Given the description of an element on the screen output the (x, y) to click on. 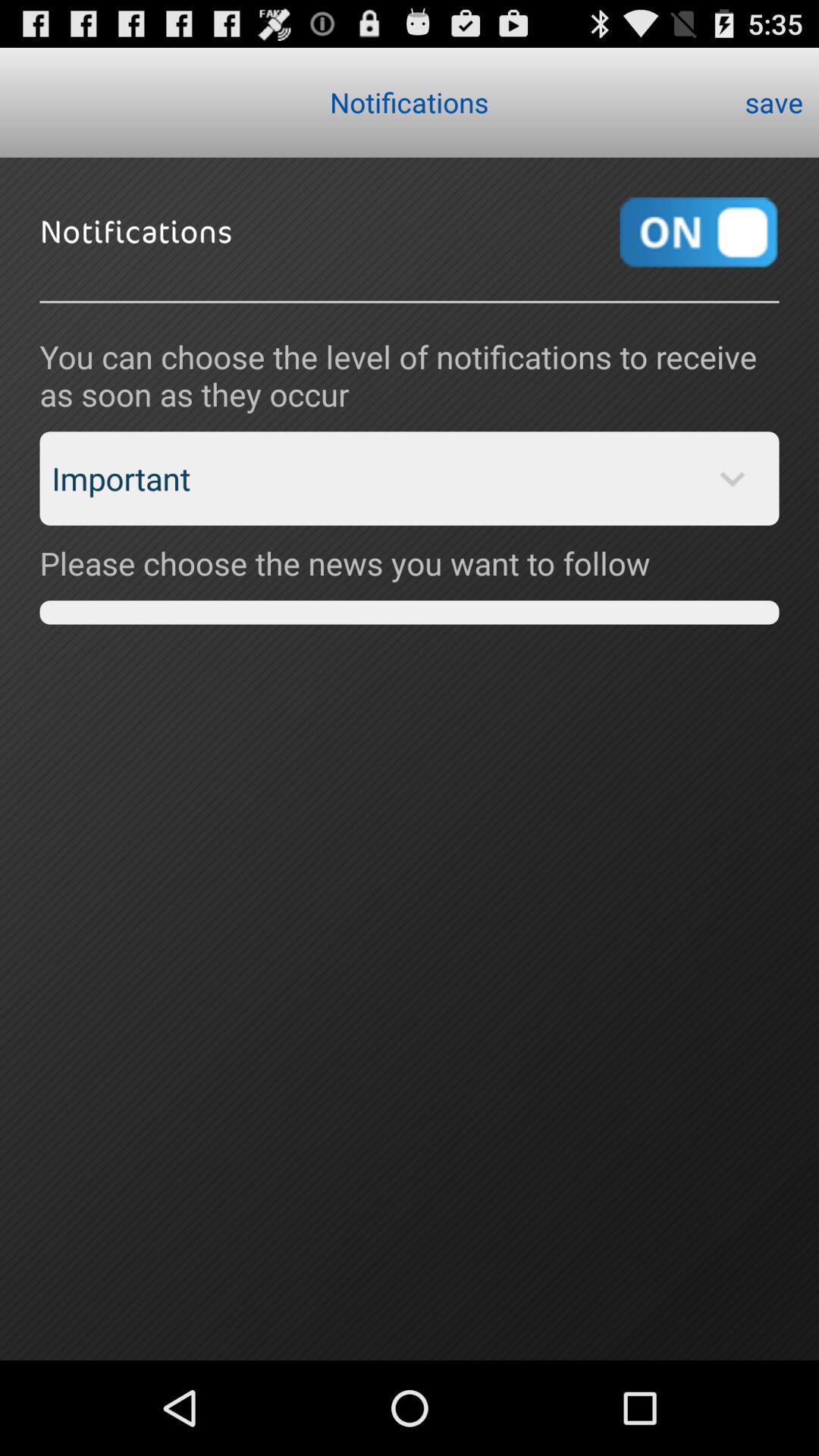
press the button above notifications icon (774, 102)
